Given the description of an element on the screen output the (x, y) to click on. 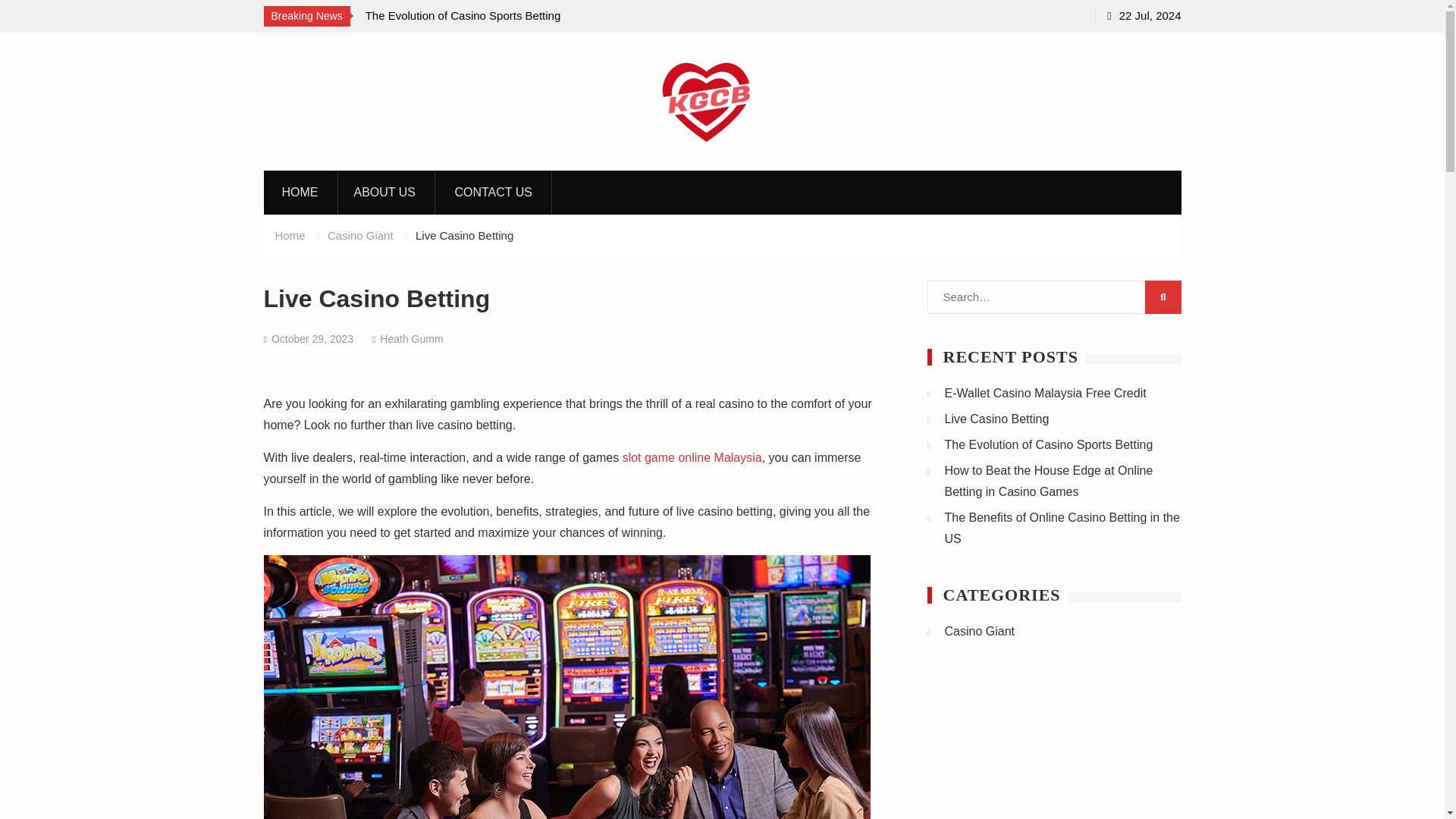
October 29, 2023 (311, 338)
YouTube video player (1053, 748)
HOME (299, 192)
The Benefits of Online Casino Betting in the US (1061, 528)
Search for: (1053, 297)
Home (289, 235)
E-Wallet Casino Malaysia Free Credit (1045, 392)
Heath Gumm (411, 338)
The Evolution of Casino Sports Betting (463, 15)
Live Casino Betting (996, 418)
The Evolution of Casino Sports Betting (1048, 444)
Casino Giant (360, 235)
ABOUT US (384, 192)
CONTACT US (493, 192)
